Given the description of an element on the screen output the (x, y) to click on. 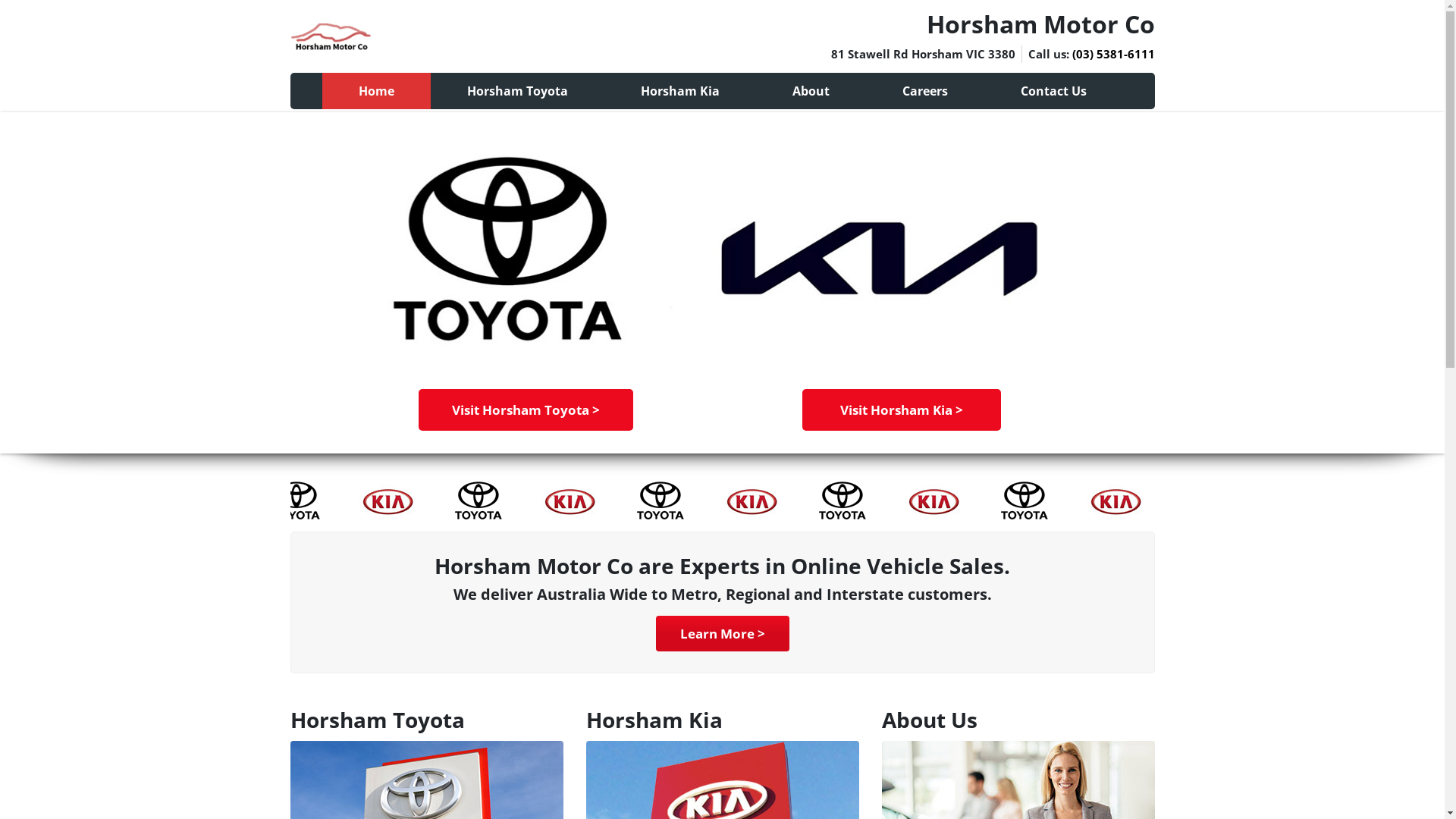
Horsham Kia Element type: text (679, 90)
Visit Horsham Toyota > Element type: text (525, 409)
Home Element type: text (375, 90)
Careers Element type: text (925, 90)
Learn More > Element type: text (721, 633)
Horsham Toyota Element type: text (517, 90)
About Element type: text (810, 90)
(03) 5381-6111 Element type: text (1113, 53)
Visit Horsham Kia > Element type: text (901, 409)
Contact Us Element type: text (1053, 90)
